Given the description of an element on the screen output the (x, y) to click on. 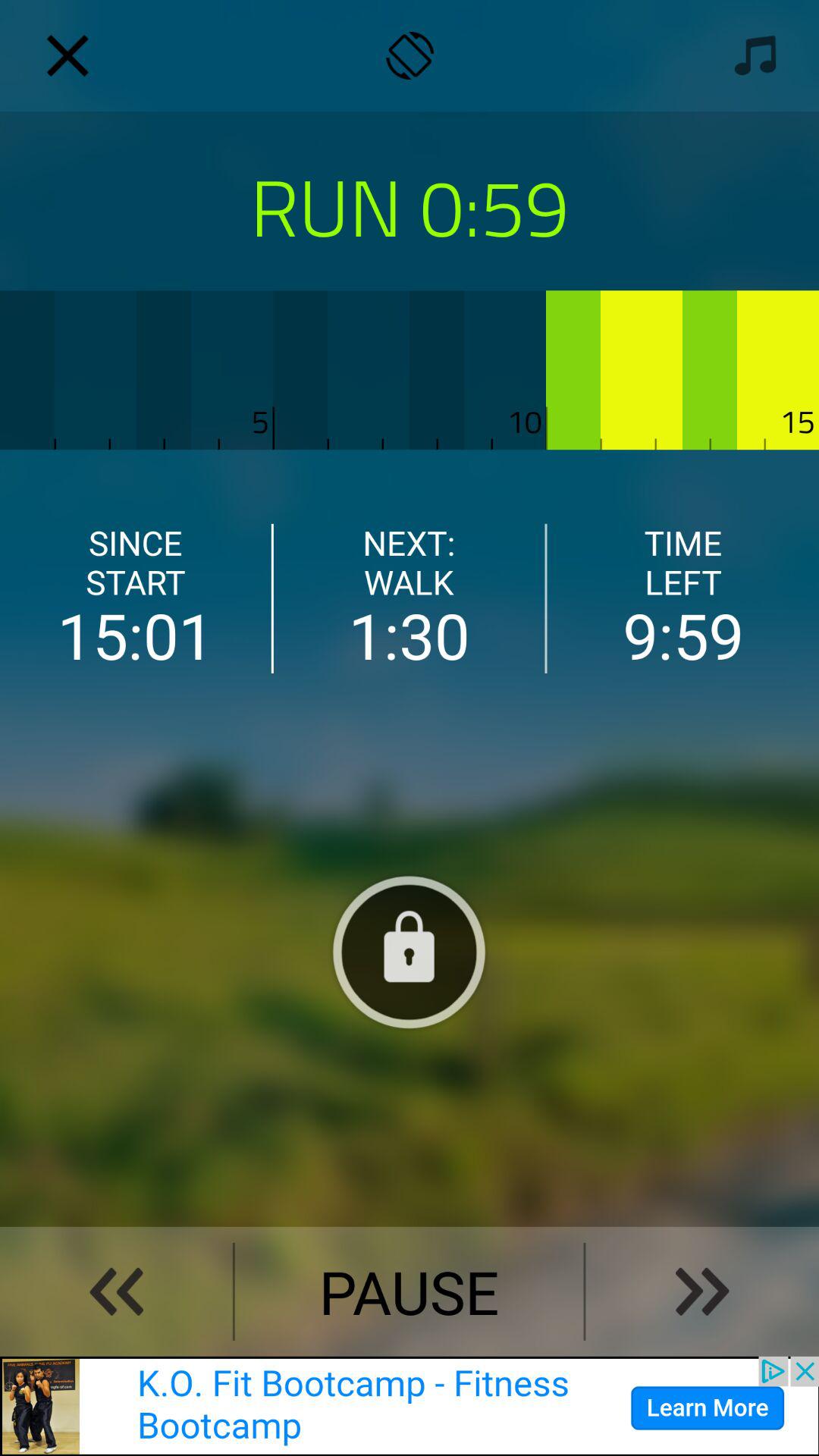
select the icon above the pause (409, 951)
click on the cross option on the top left corner (67, 55)
click on music symbol option on the top right corner (751, 56)
